Given the description of an element on the screen output the (x, y) to click on. 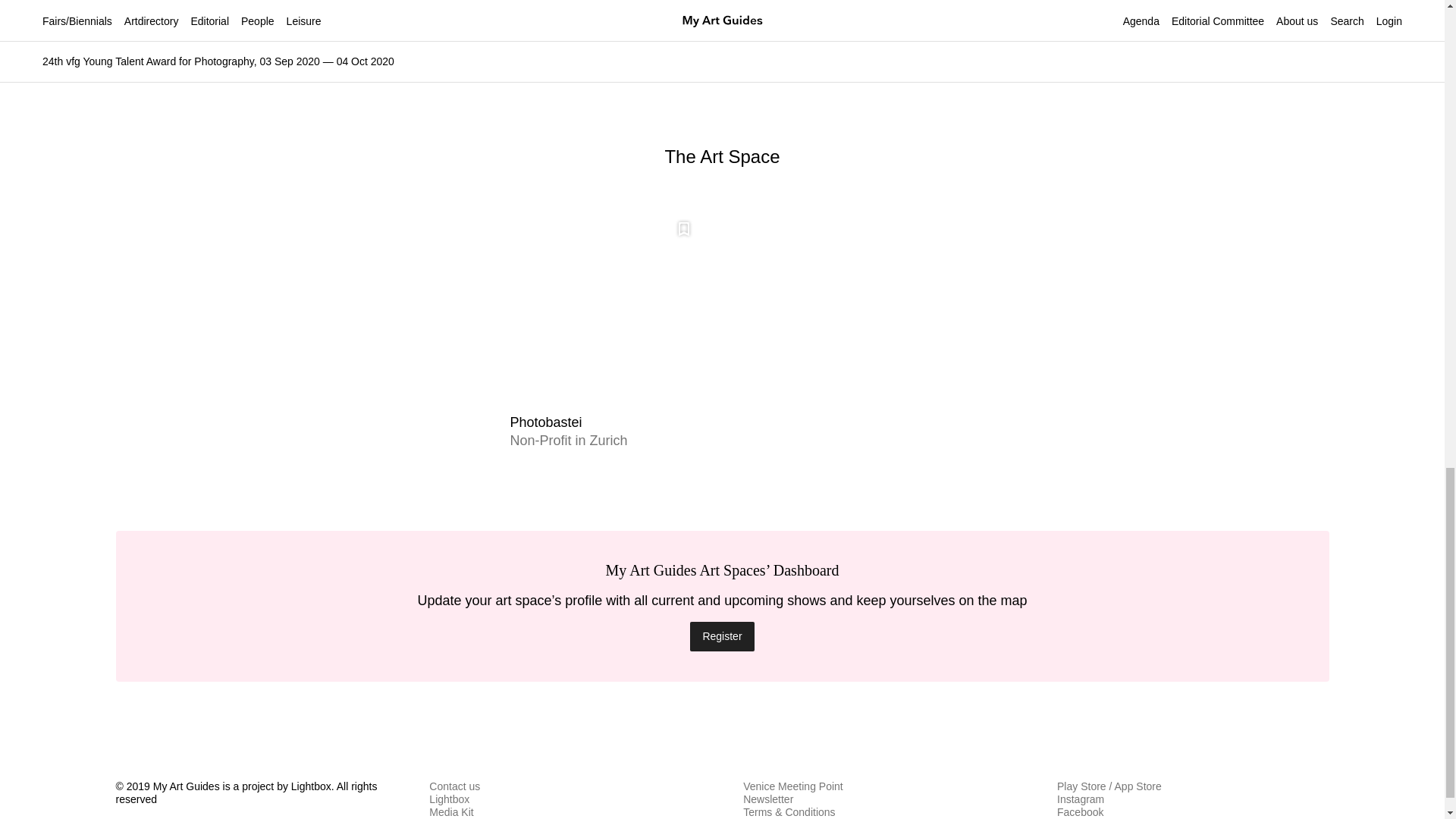
Newsletter (767, 799)
Lightbox (448, 799)
Register (722, 636)
Contact us (454, 786)
Venice Meeting Point (792, 786)
Play Store (1081, 786)
App Store (1138, 786)
Media Kit (451, 811)
Facebook (1080, 811)
Instagram (1080, 799)
